Given the description of an element on the screen output the (x, y) to click on. 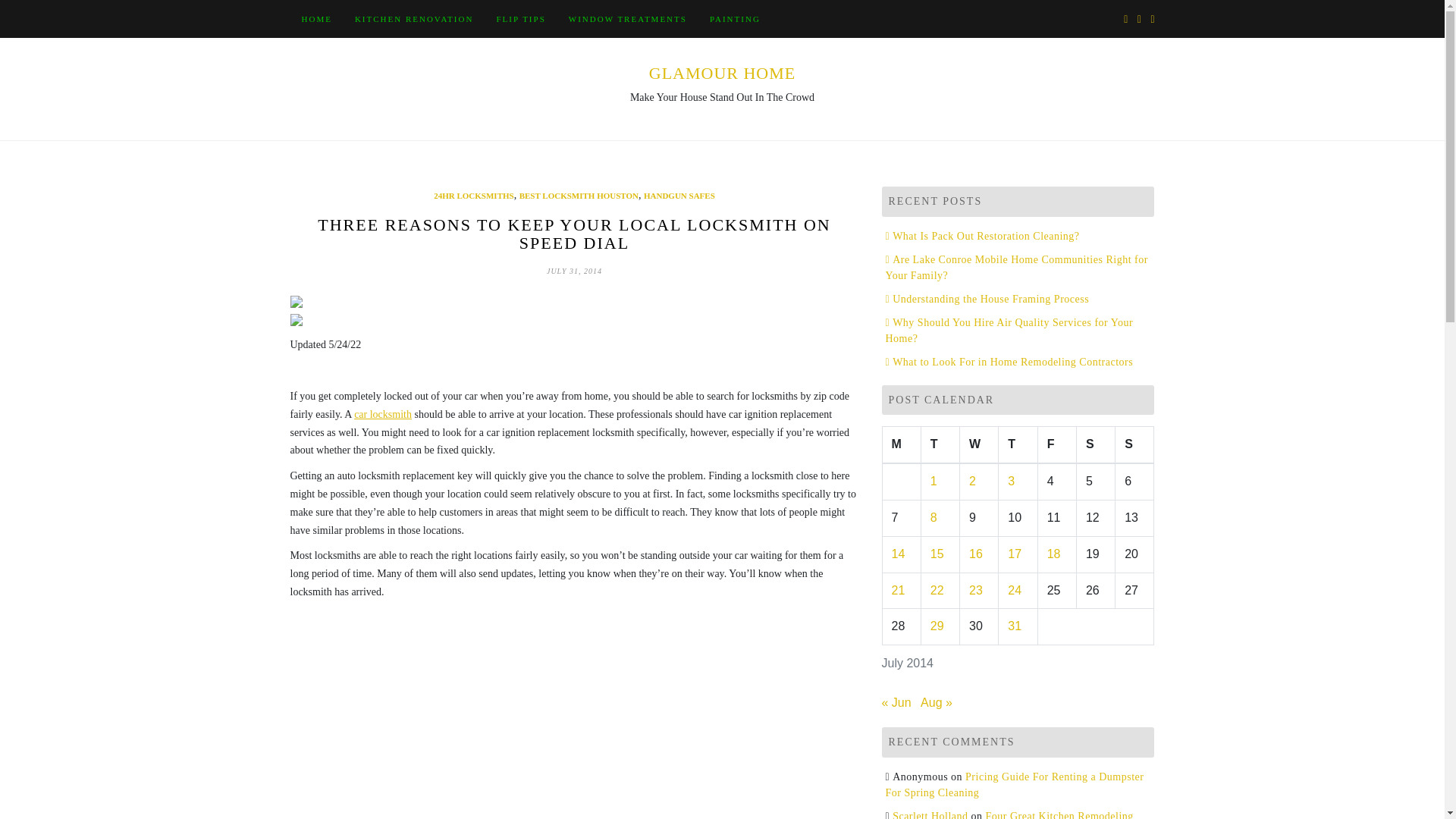
17 (1014, 553)
16 (975, 553)
24HR LOCKSMITHS (473, 196)
HOME (315, 18)
What Is Pack Out Restoration Cleaning? (982, 235)
GLAMOUR HOME (722, 72)
Monday (901, 444)
Why Should You Hire Air Quality Services for Your Home? (1009, 329)
15 (936, 553)
18 (1053, 553)
What to Look For in Home Remodeling Contractors (1009, 361)
8 (933, 517)
car locksmith (382, 414)
WINDOW TREATMENTS (627, 18)
